Given the description of an element on the screen output the (x, y) to click on. 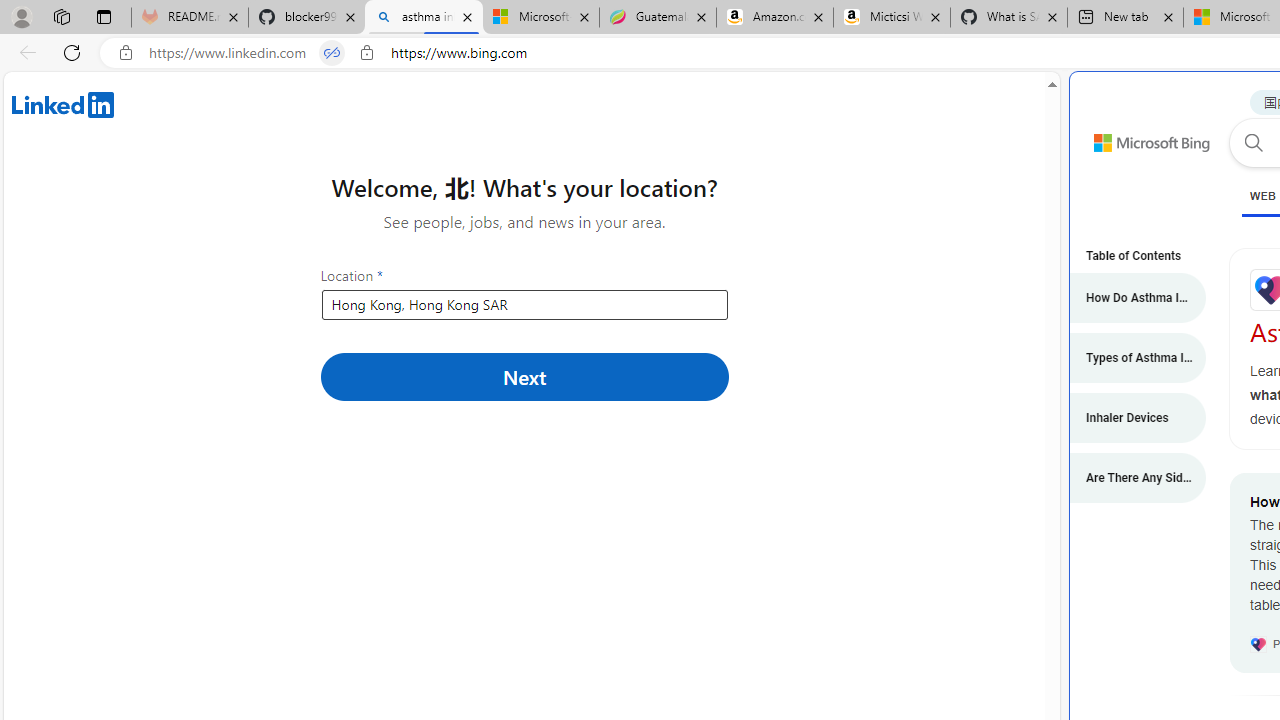
Back to Bing search (1139, 138)
How Do Asthma Inhalers Work? (1127, 297)
Types of Asthma Inhalers (1127, 357)
asthma inhaler - Search (424, 17)
Search button (1253, 142)
